Given the description of an element on the screen output the (x, y) to click on. 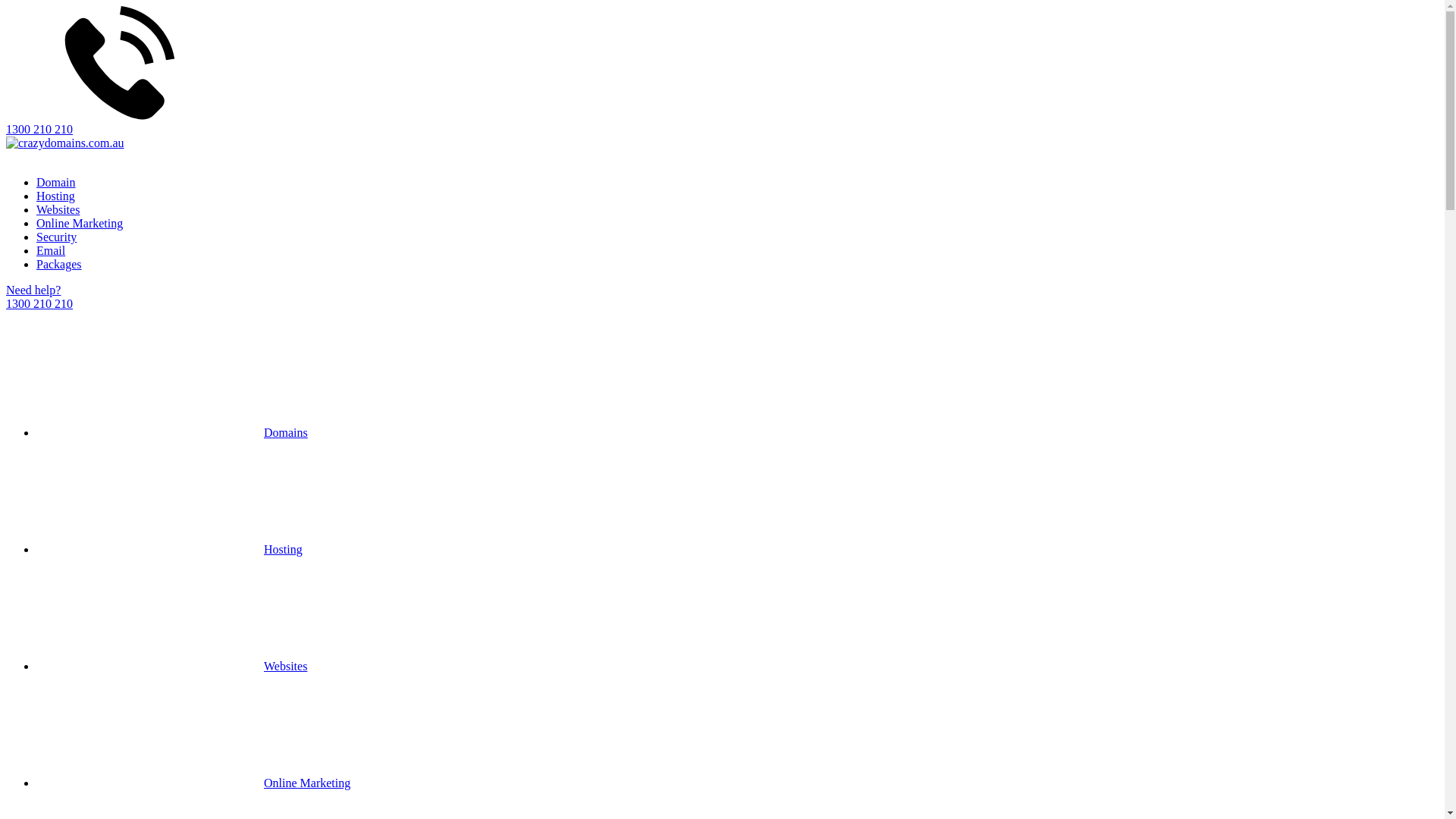
Online Marketing Element type: text (193, 782)
Security Element type: text (56, 236)
Need help?
1300 210 210 Element type: text (722, 296)
Domains Element type: text (171, 432)
Email Element type: text (50, 250)
Hosting Element type: text (55, 195)
1300 210 210 Element type: text (722, 70)
Hosting Element type: text (169, 548)
Online Marketing Element type: text (79, 222)
Packages Element type: text (58, 263)
Websites Element type: text (57, 209)
Domain Element type: text (55, 181)
Websites Element type: text (171, 665)
